Given the description of an element on the screen output the (x, y) to click on. 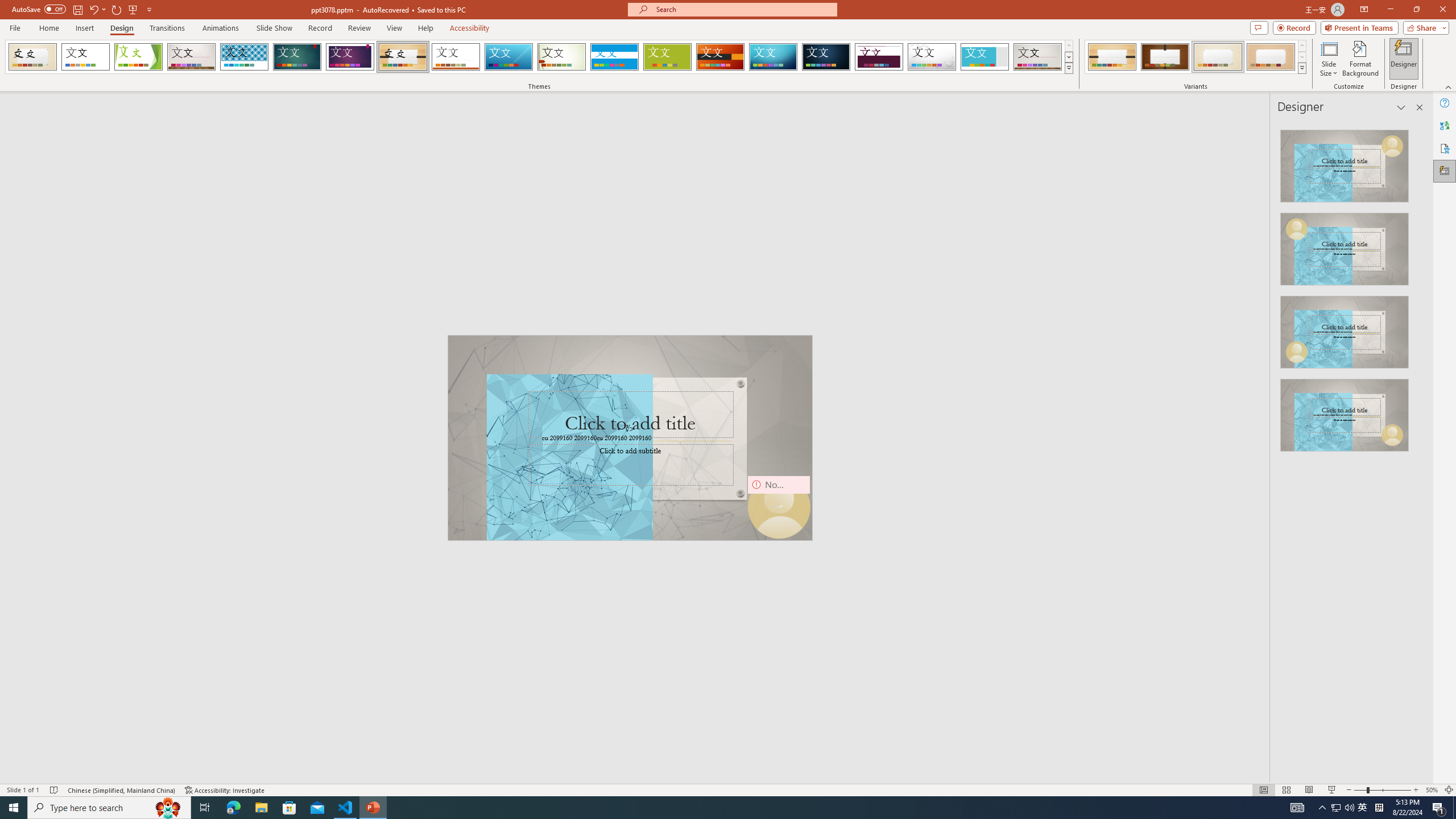
Banded (614, 56)
Slice (508, 56)
Ion Boardroom (350, 56)
Droplet (931, 56)
Retrospect (455, 56)
Subtitle TextBox (630, 464)
